Given the description of an element on the screen output the (x, y) to click on. 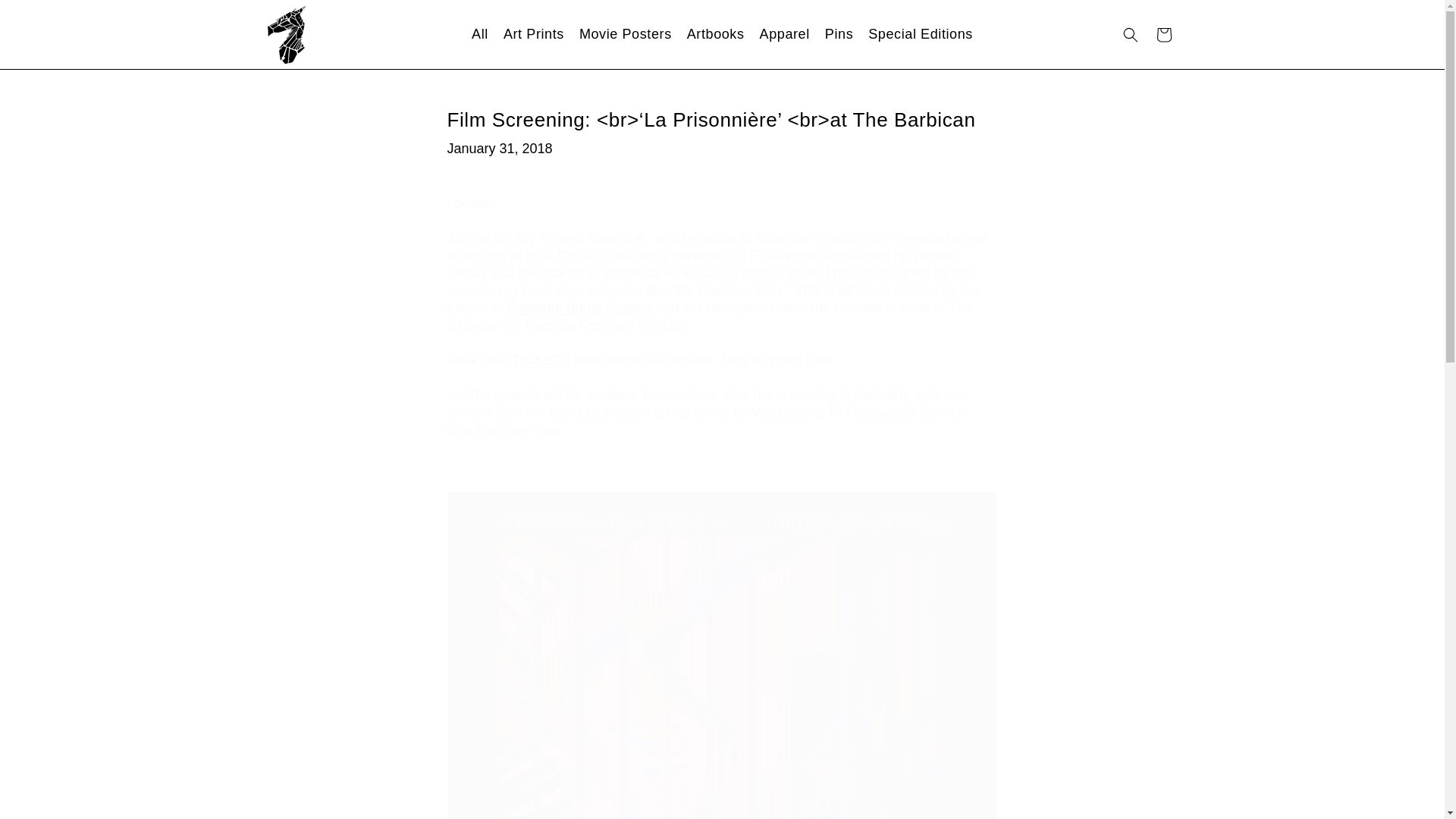
TICKETS (541, 359)
Movie Posters (625, 34)
Pins (838, 34)
Special Editions (919, 34)
Artbooks (715, 34)
Art Prints (534, 34)
SKIP TO CONTENT (45, 17)
Cart (1163, 34)
Apparel (784, 34)
All (480, 34)
